Given the description of an element on the screen output the (x, y) to click on. 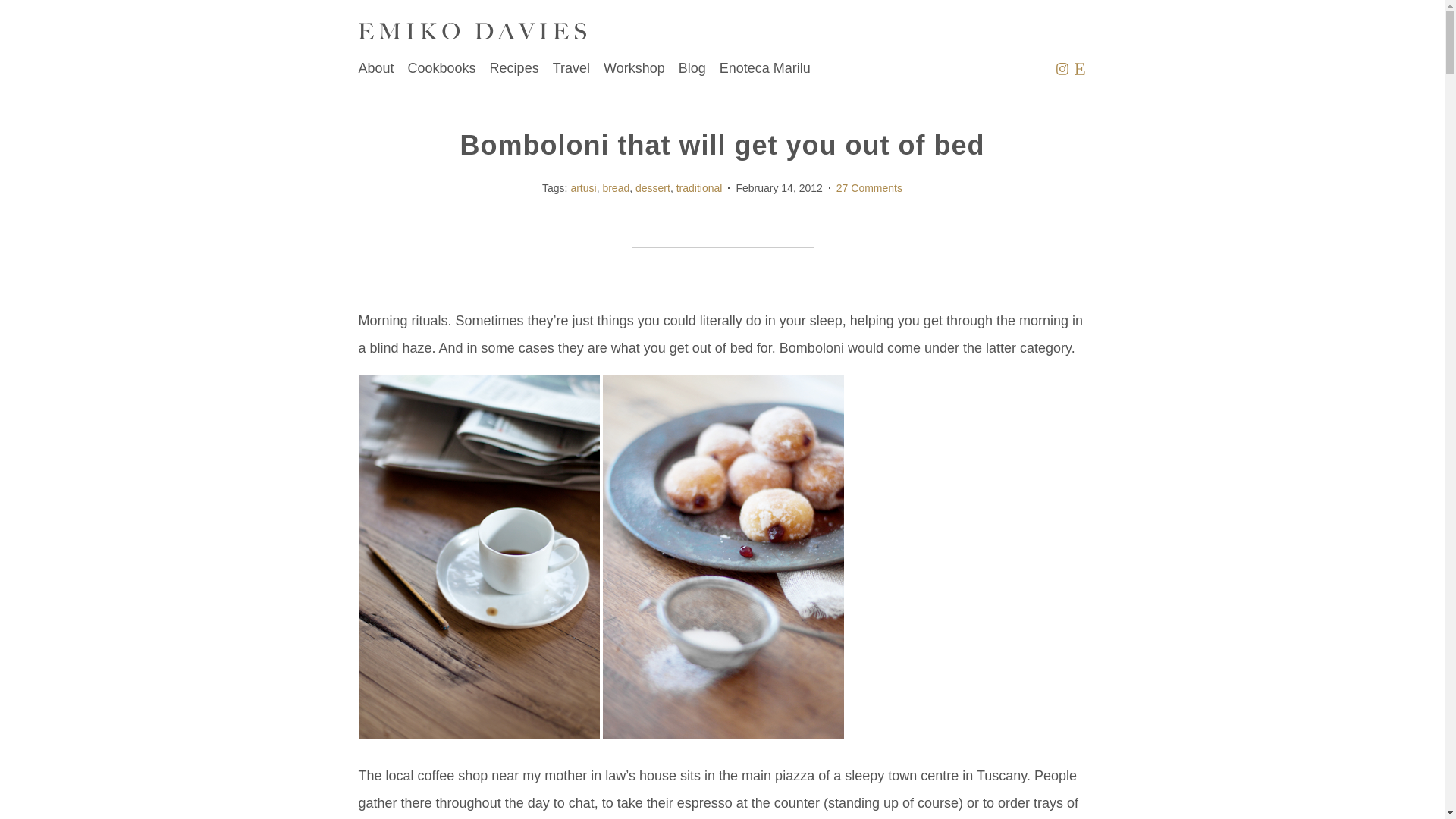
27 Comments (868, 187)
traditional (699, 187)
Enoteca Marilu (764, 68)
artusi (582, 187)
About (375, 68)
Blog (692, 68)
Travel (571, 68)
Workshop (634, 68)
bread (615, 187)
Cookbooks (441, 68)
Recipes (513, 68)
dessert (651, 187)
